Given the description of an element on the screen output the (x, y) to click on. 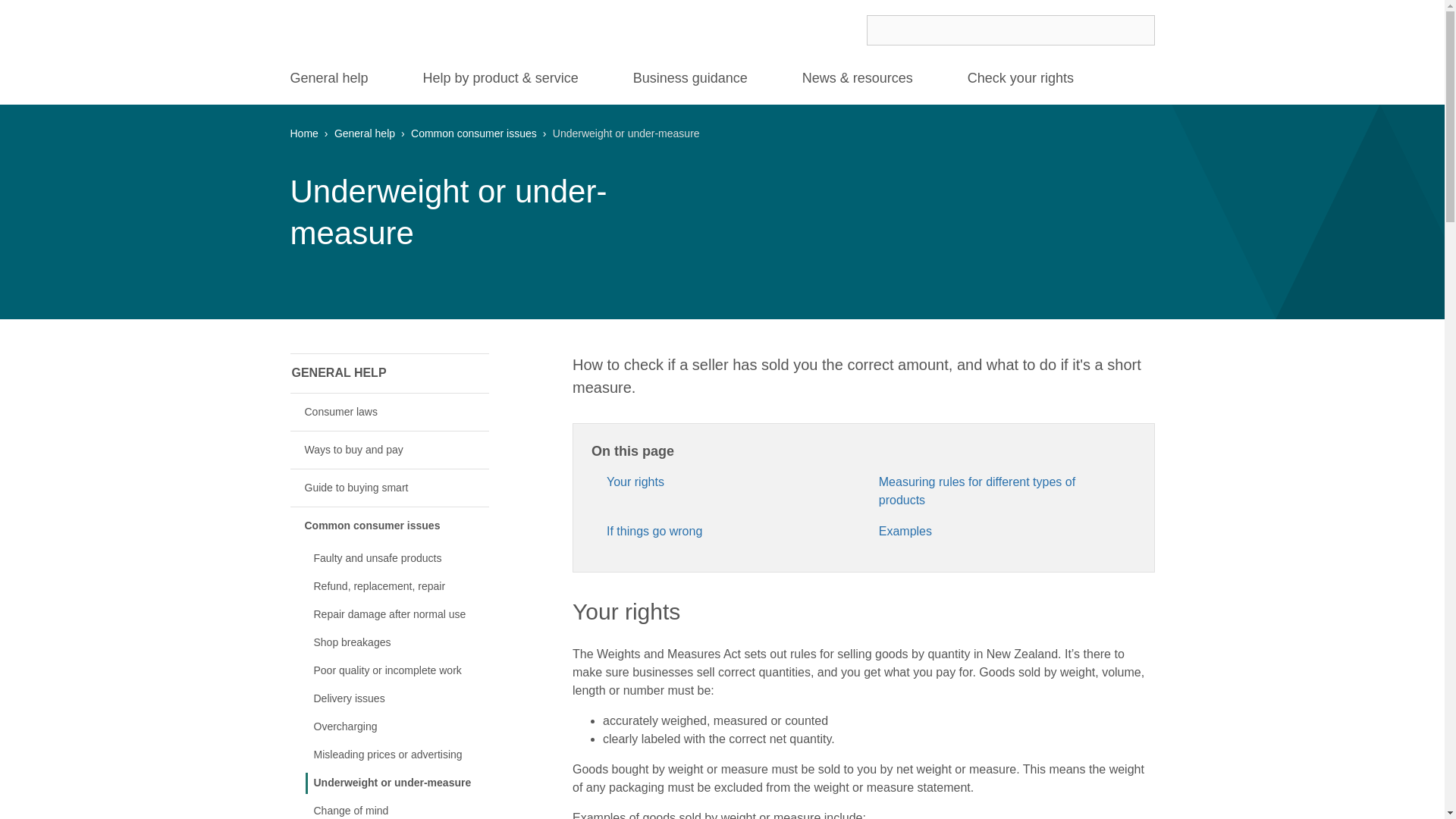
Go to the General help page (338, 372)
Enter search terms (1010, 30)
Consumer Protection (409, 30)
